Given the description of an element on the screen output the (x, y) to click on. 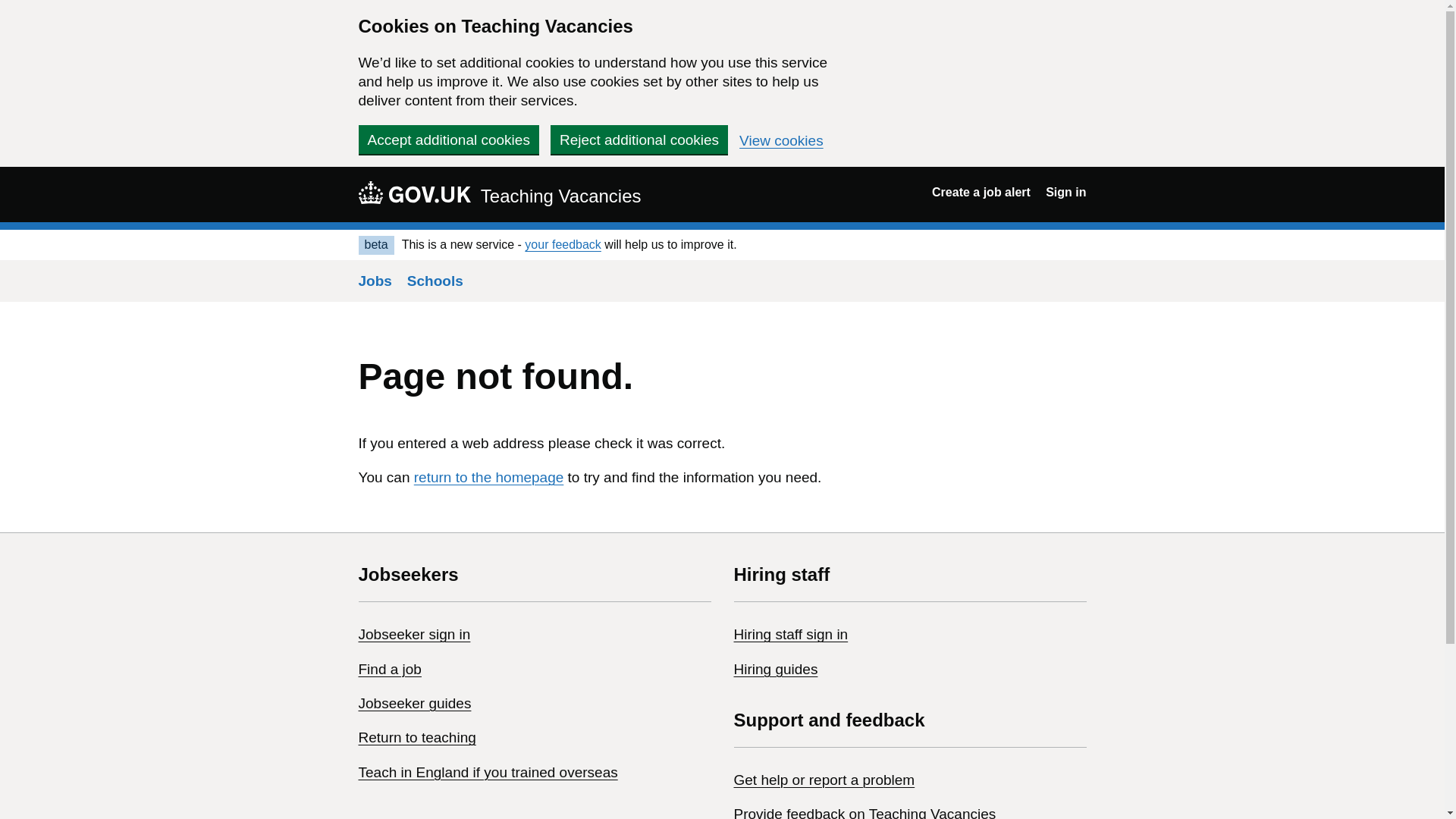
Find a job (389, 668)
Reject additional cookies (639, 139)
your feedback (562, 244)
Hiring staff sign in (790, 634)
Schools (435, 281)
GOV.UK Teaching Vacancies (499, 194)
Hiring guides (775, 668)
Sign in (1065, 192)
Create a job alert (980, 192)
